Given the description of an element on the screen output the (x, y) to click on. 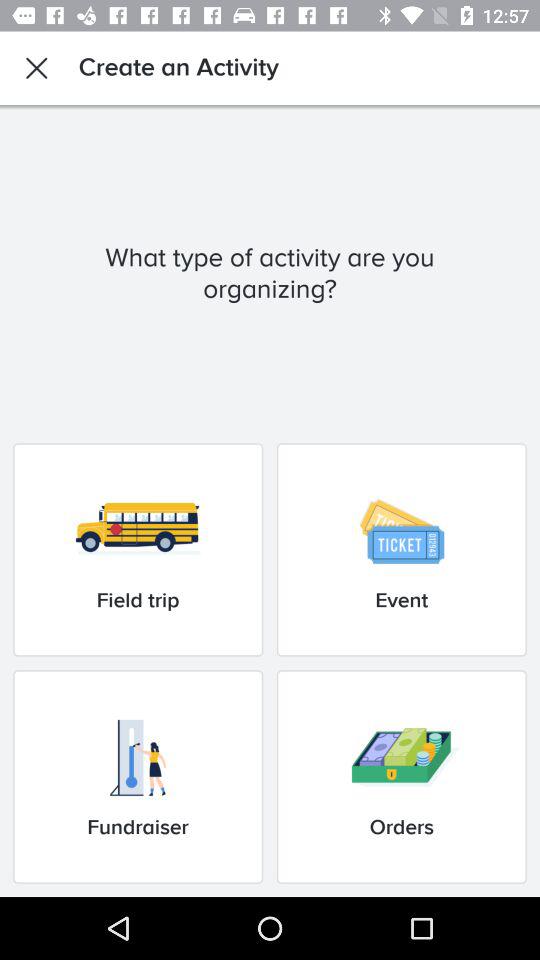
select the item next to event (138, 549)
